Given the description of an element on the screen output the (x, y) to click on. 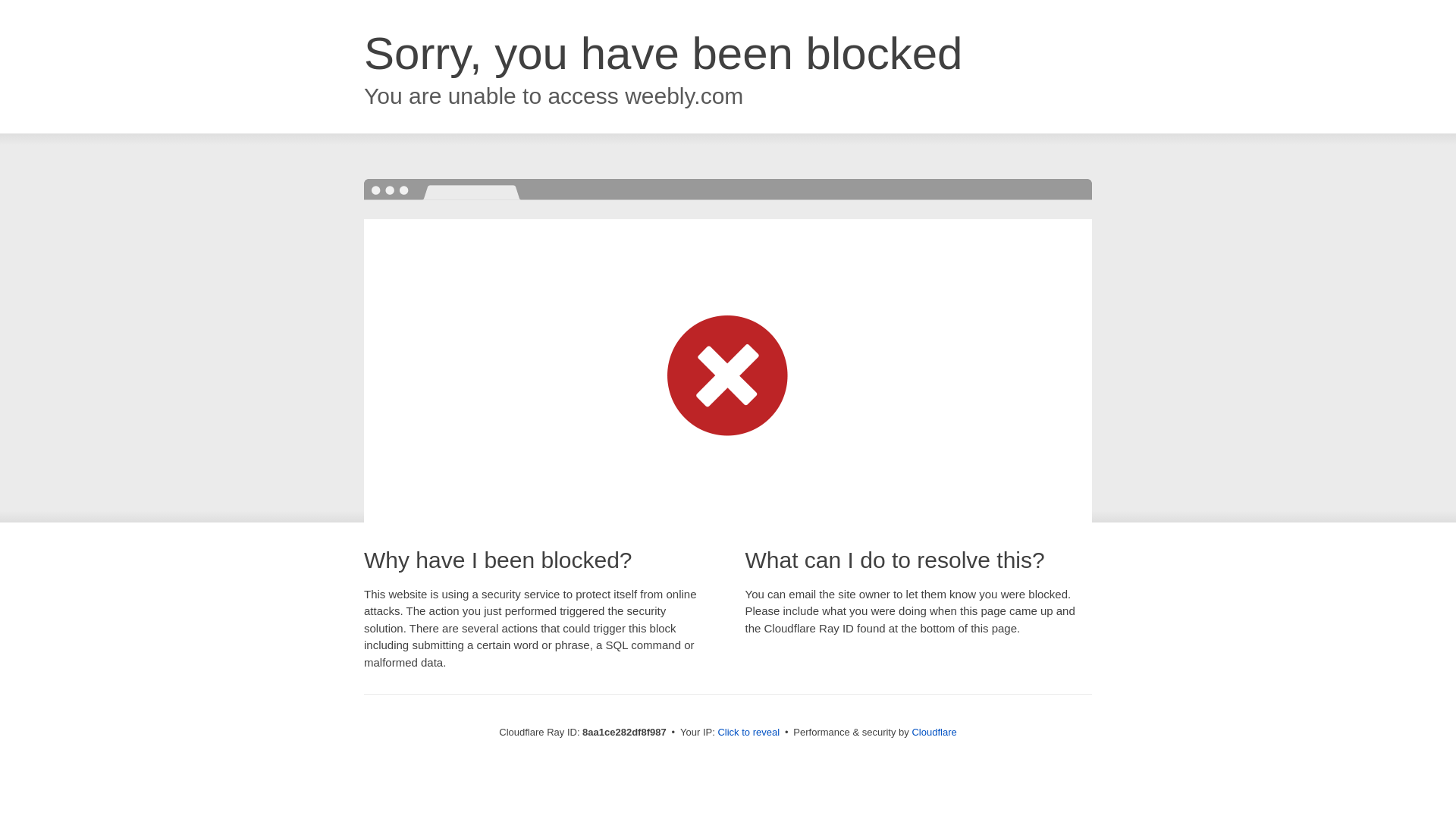
Cloudflare (933, 731)
Click to reveal (747, 732)
